Given the description of an element on the screen output the (x, y) to click on. 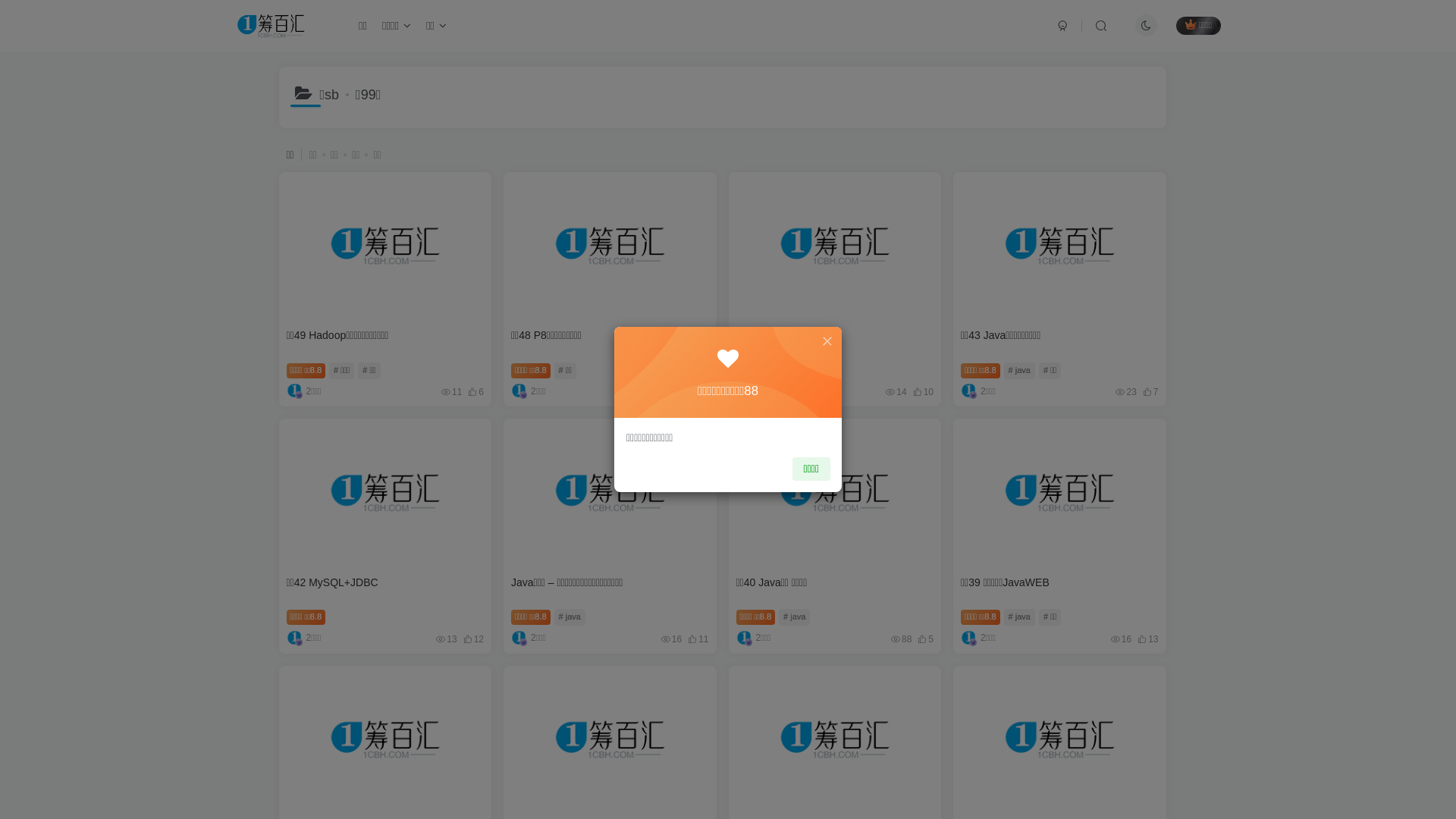
# java Element type: text (1019, 370)
# java Element type: text (569, 616)
# java Element type: text (793, 370)
# java Element type: text (793, 616)
# java Element type: text (1019, 616)
